Given the description of an element on the screen output the (x, y) to click on. 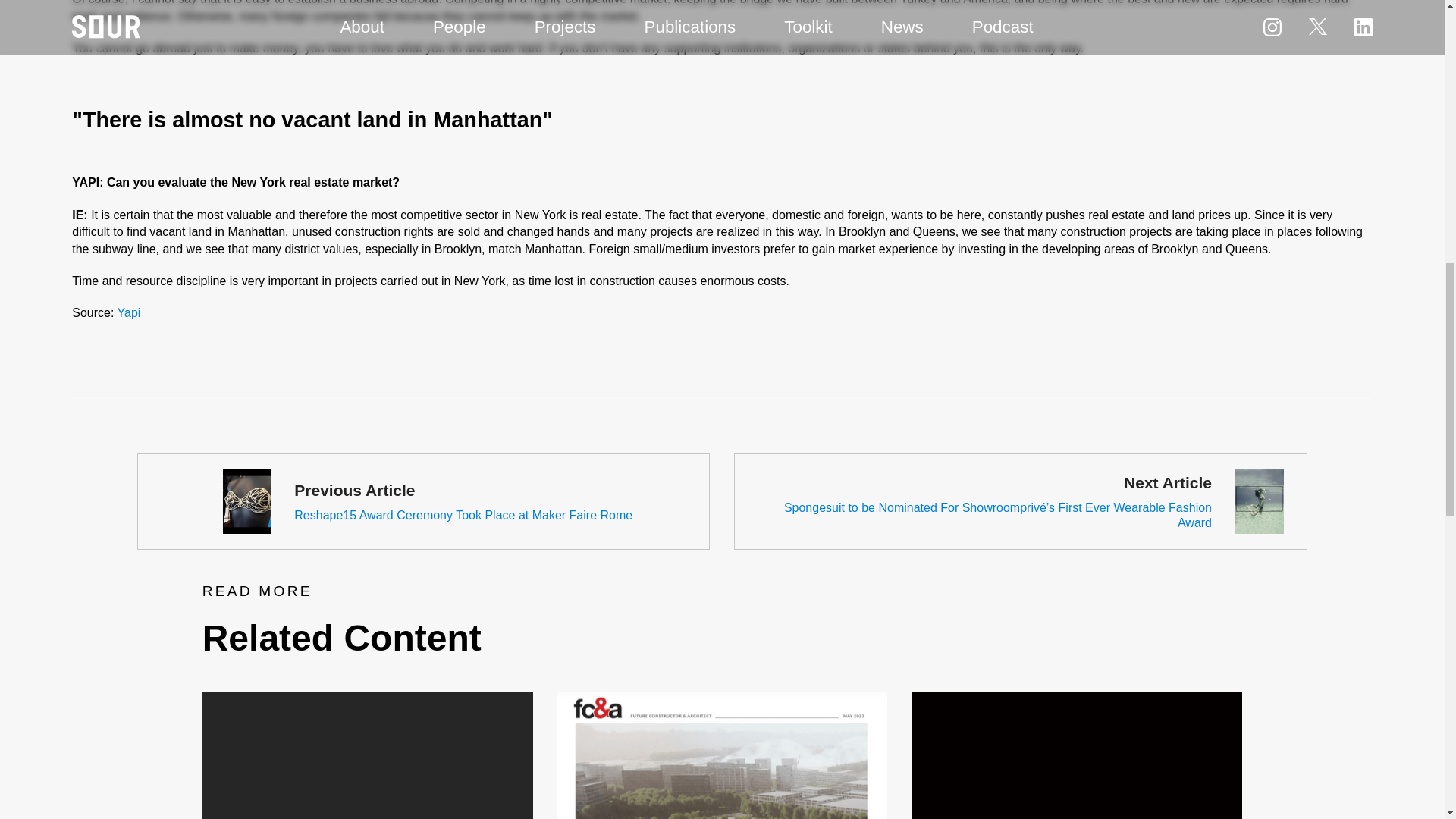
Yapi (129, 312)
